Given the description of an element on the screen output the (x, y) to click on. 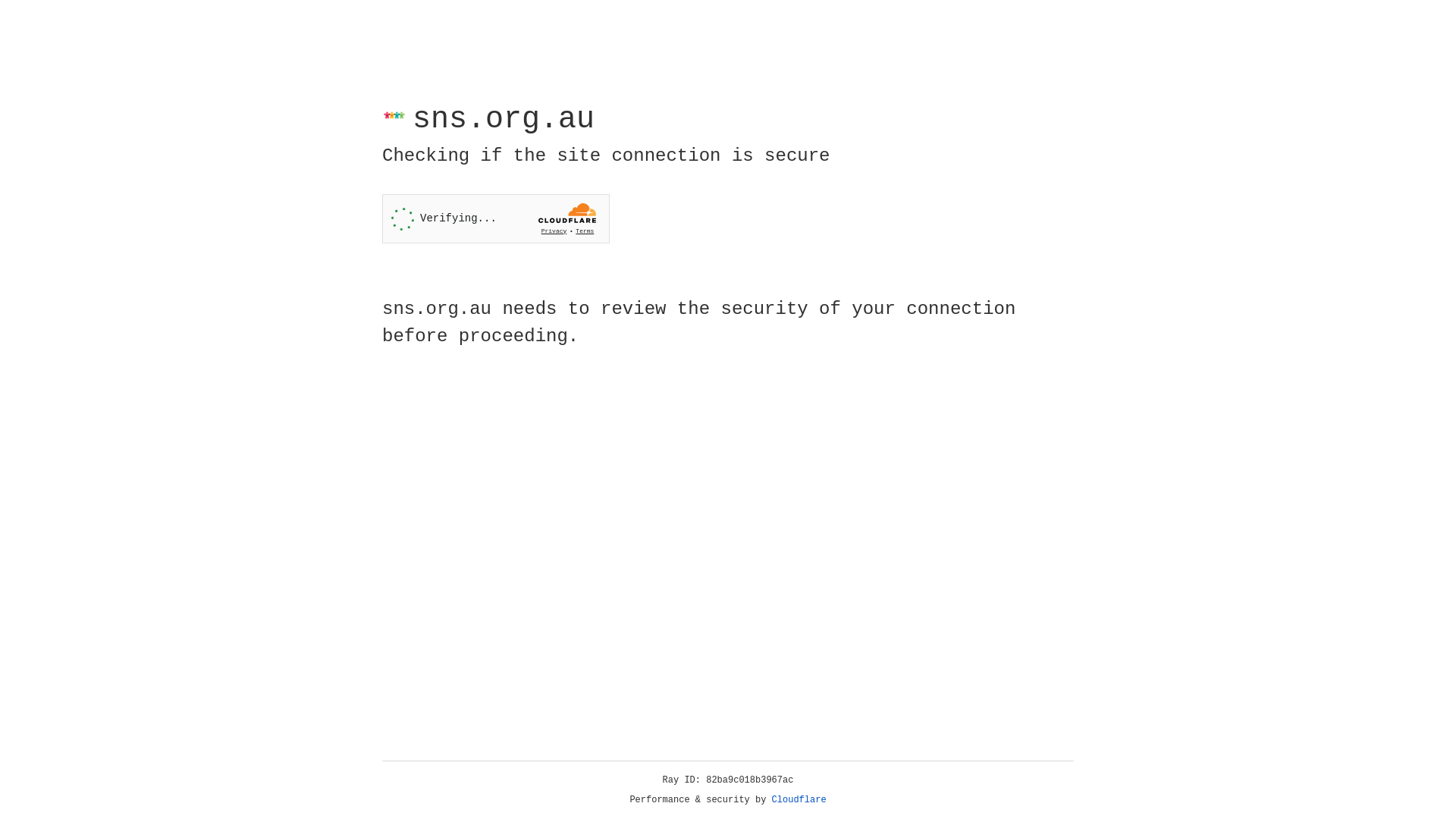
Widget containing a Cloudflare security challenge Element type: hover (495, 218)
Cloudflare Element type: text (798, 799)
